Given the description of an element on the screen output the (x, y) to click on. 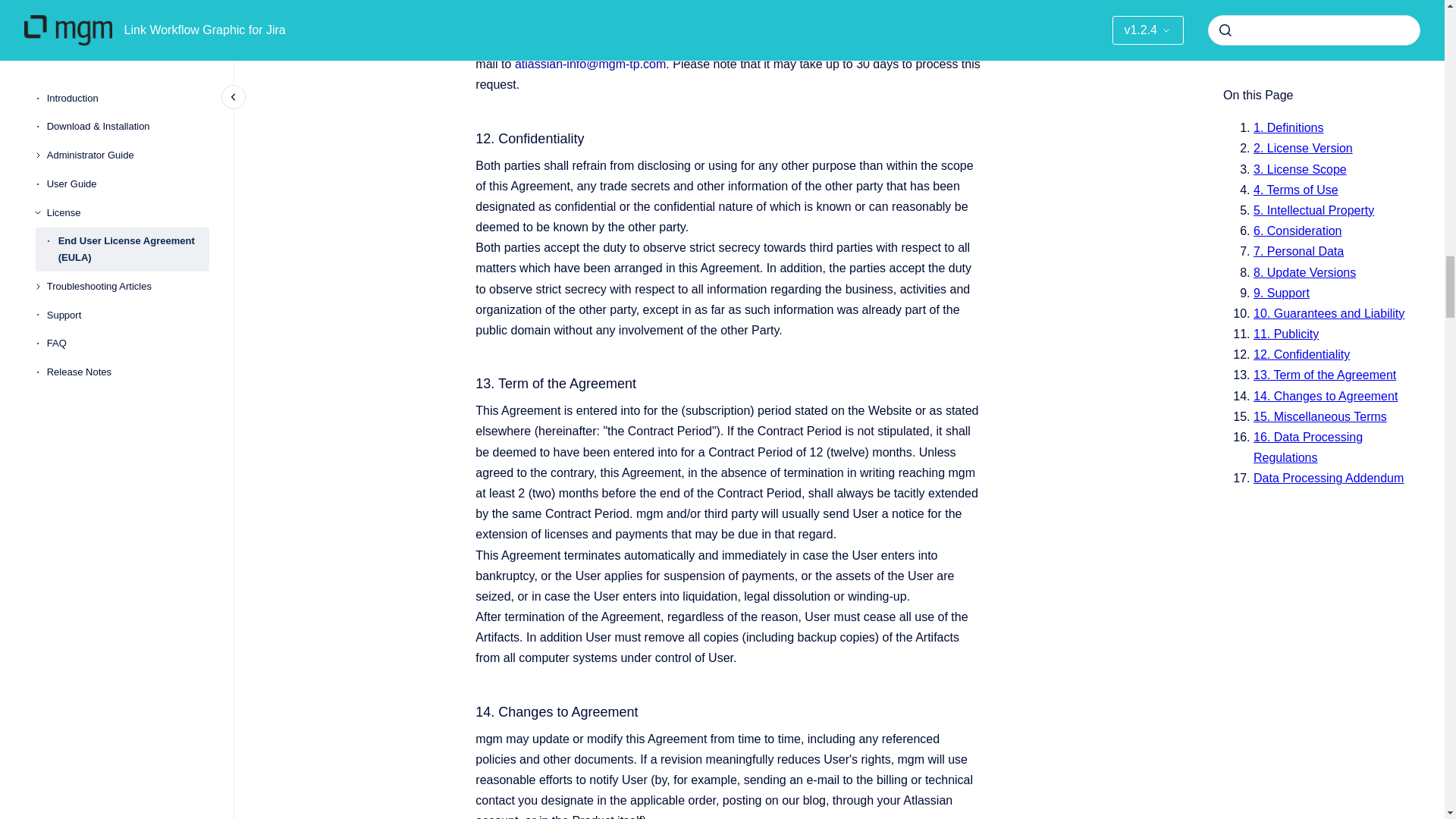
Copy to clipboard (468, 2)
